Given the description of an element on the screen output the (x, y) to click on. 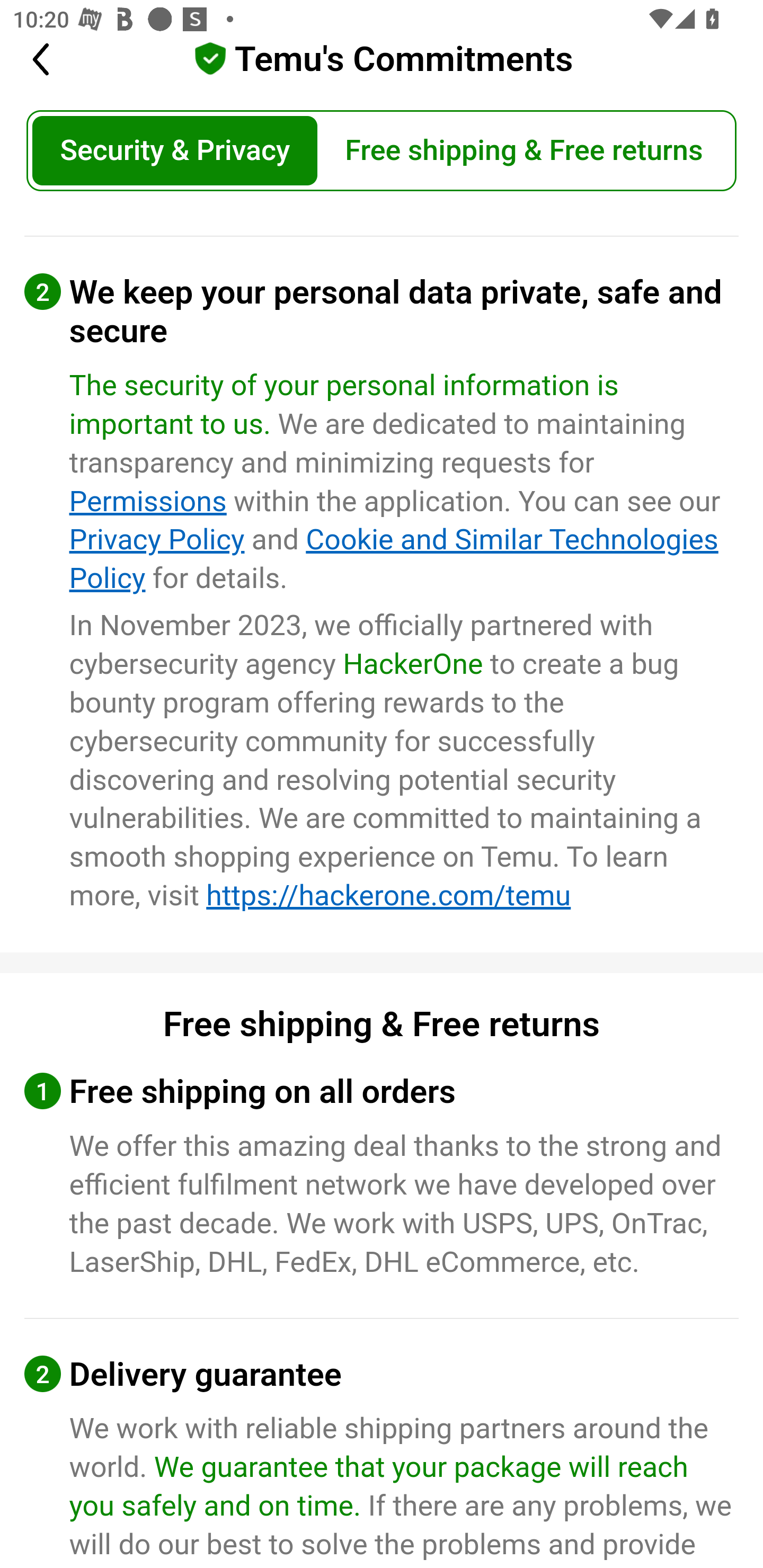
Back (51, 60)
Security & Privacy (175, 151)
Free shipping & Free returns (523, 151)
Permissions (147, 501)
Privacy Policy (156, 540)
Cookie and Similar Technologies Policy (393, 559)
https://hackerone.com/temu (388, 896)
